Given the description of an element on the screen output the (x, y) to click on. 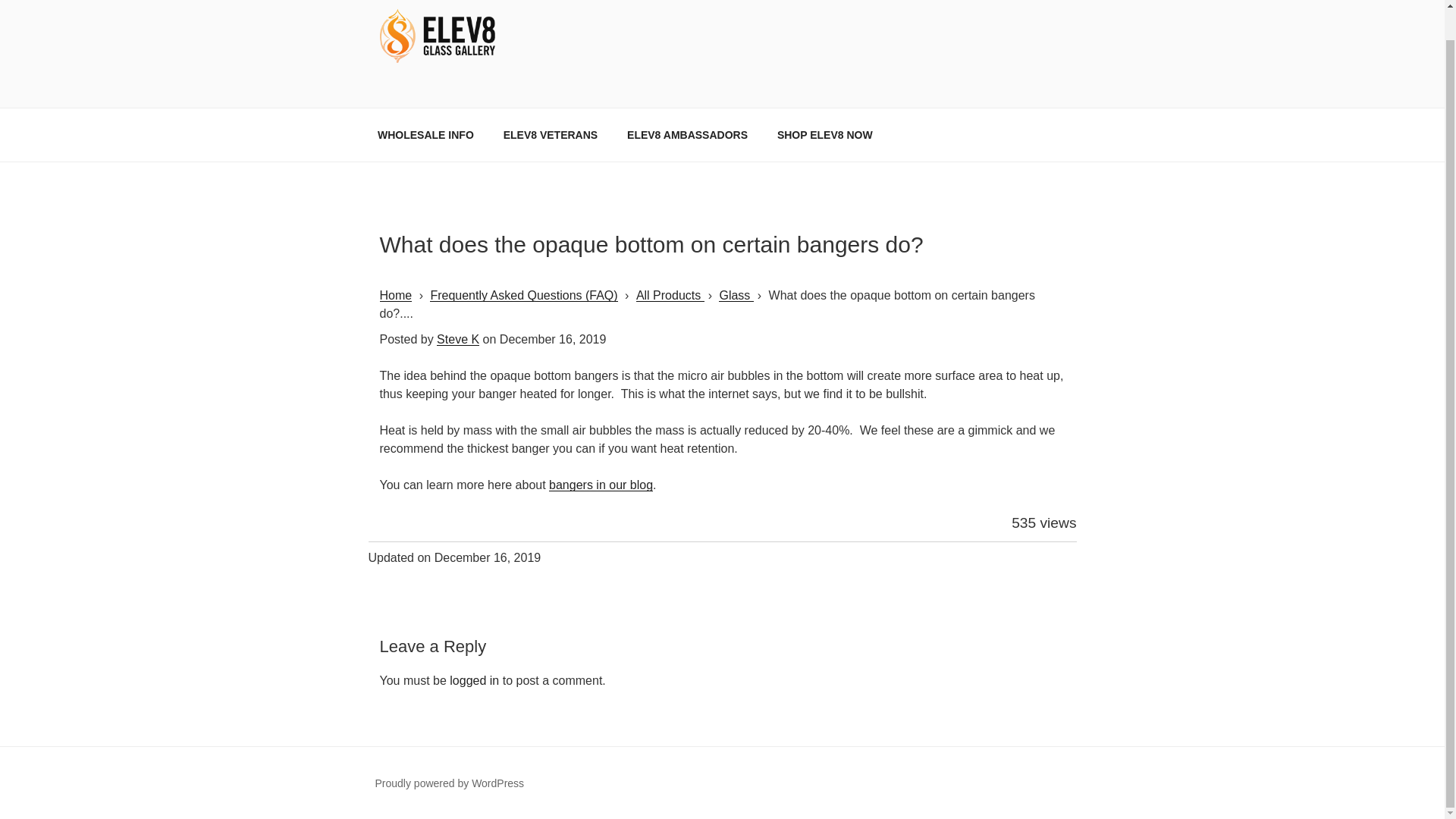
ELEV8 VETERANS (549, 134)
ELEV8ING SINCE 2004 (546, 88)
All Products (670, 295)
Steve K (457, 338)
SHOP ELEV8 NOW (823, 134)
Proudly powered by WordPress (449, 783)
logged in (474, 680)
bangers in our blog (600, 484)
Home (395, 295)
WHOLESALE INFO (425, 134)
ELEV8 AMBASSADORS (687, 134)
Glass (735, 295)
